Given the description of an element on the screen output the (x, y) to click on. 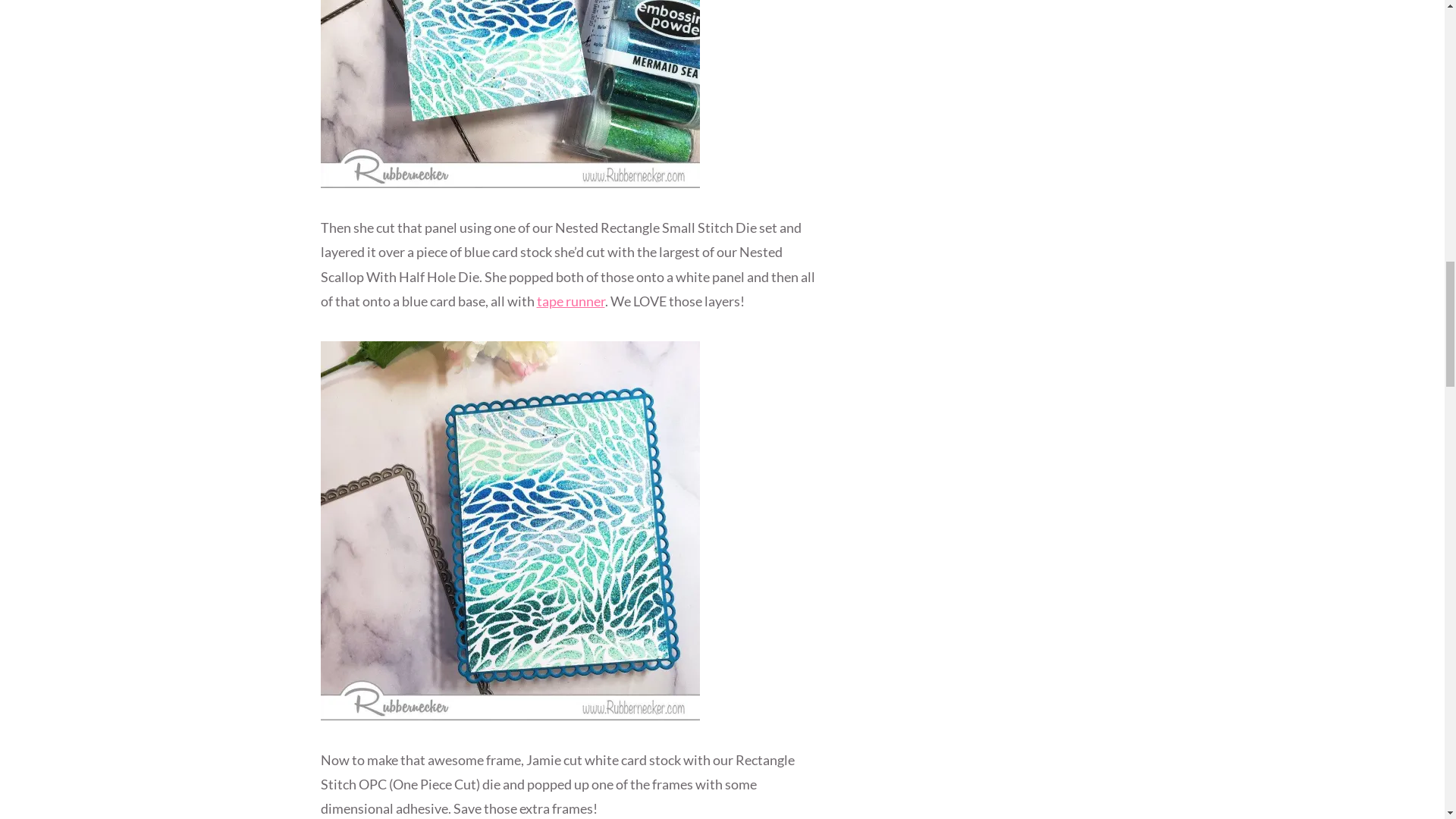
tape runner (571, 300)
